Given the description of an element on the screen output the (x, y) to click on. 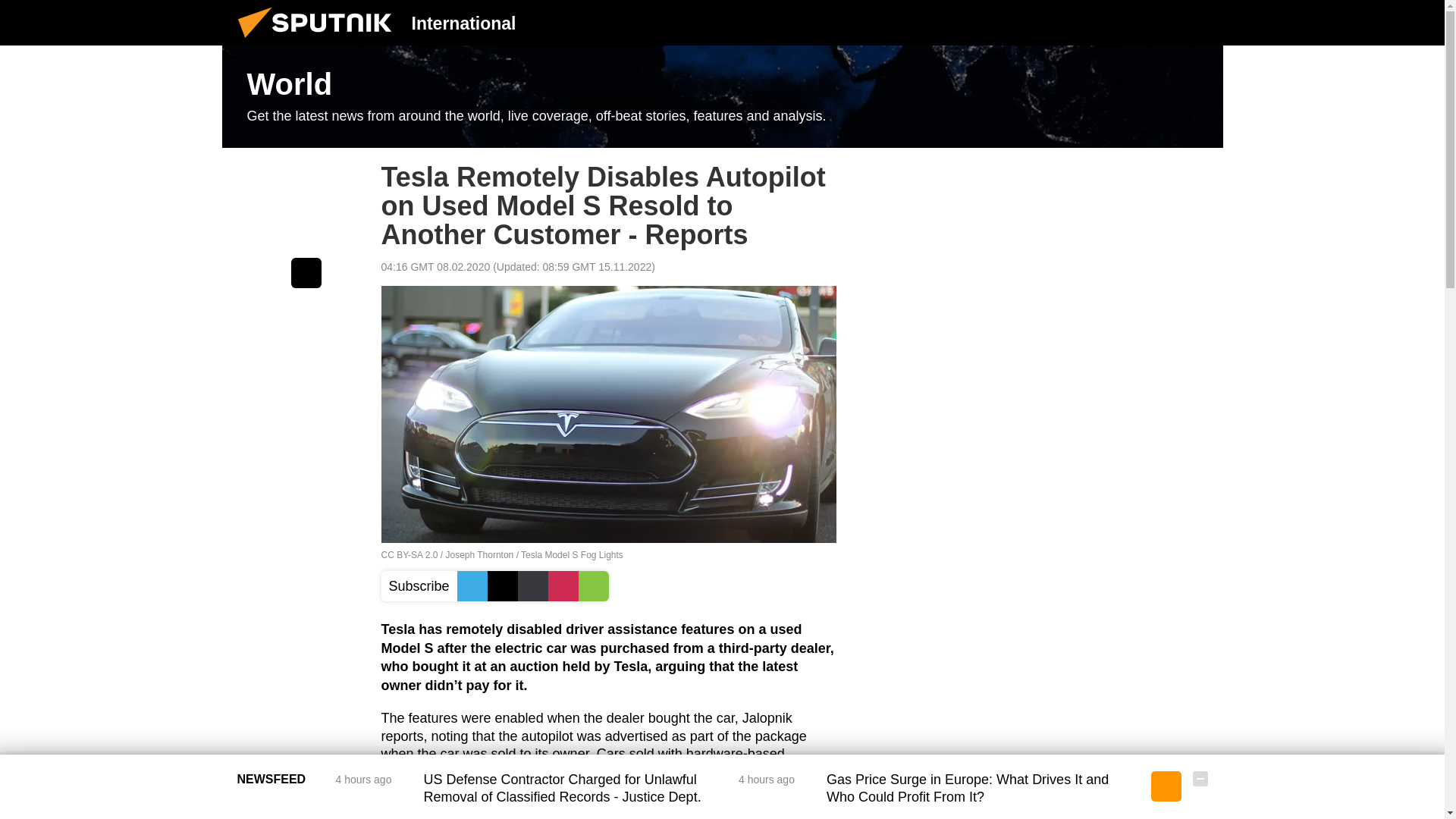
Sputnik International (319, 41)
World (722, 96)
Authorization (1123, 22)
Chats (1199, 22)
